Given the description of an element on the screen output the (x, y) to click on. 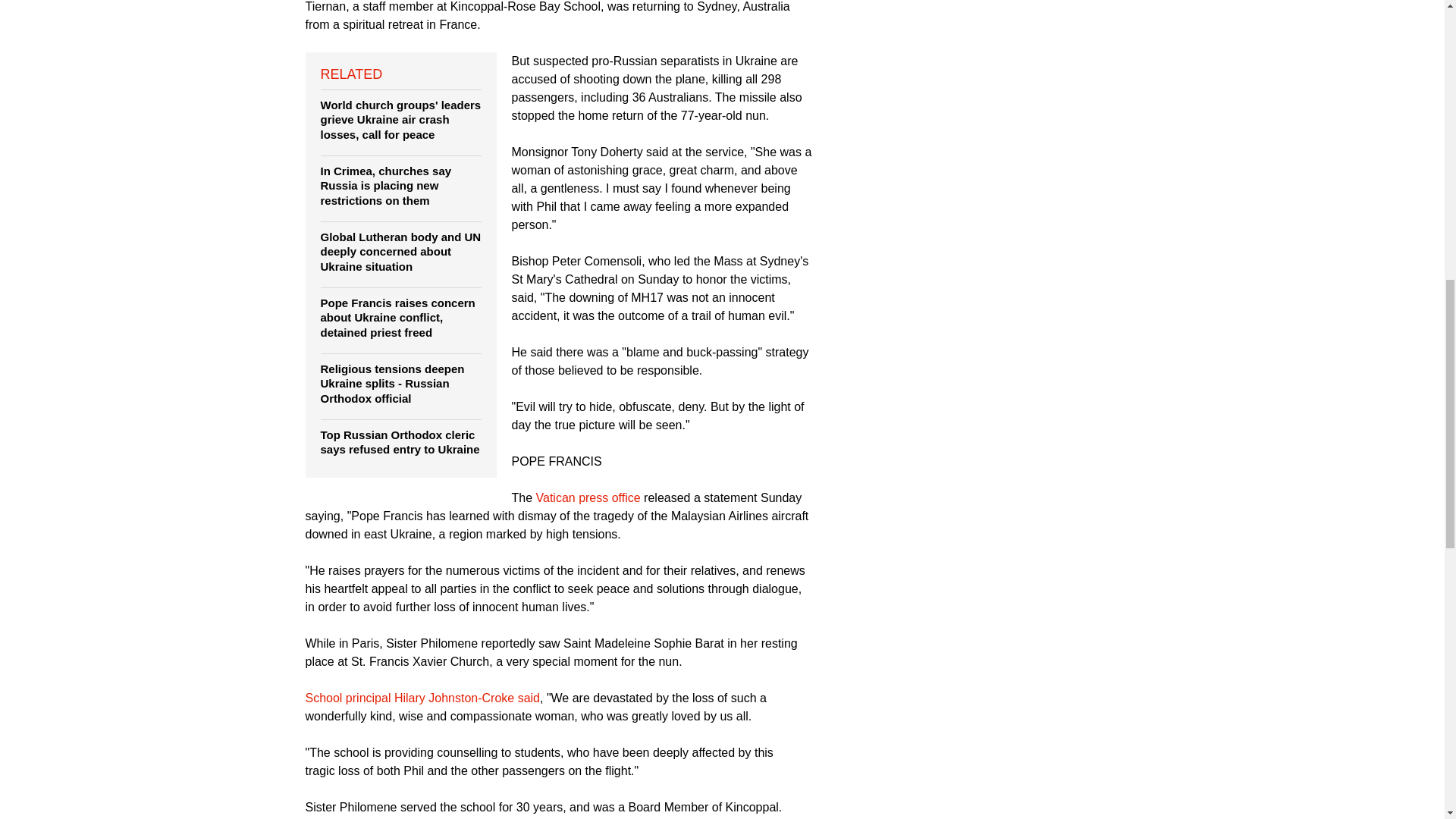
Vatican press office (587, 497)
Pope speaks on Ukraine air crash (587, 497)
Top Russian Orthodox cleric says refused entry to Ukraine (399, 442)
School principal Hilary Johnston-Croke said (421, 697)
